Given the description of an element on the screen output the (x, y) to click on. 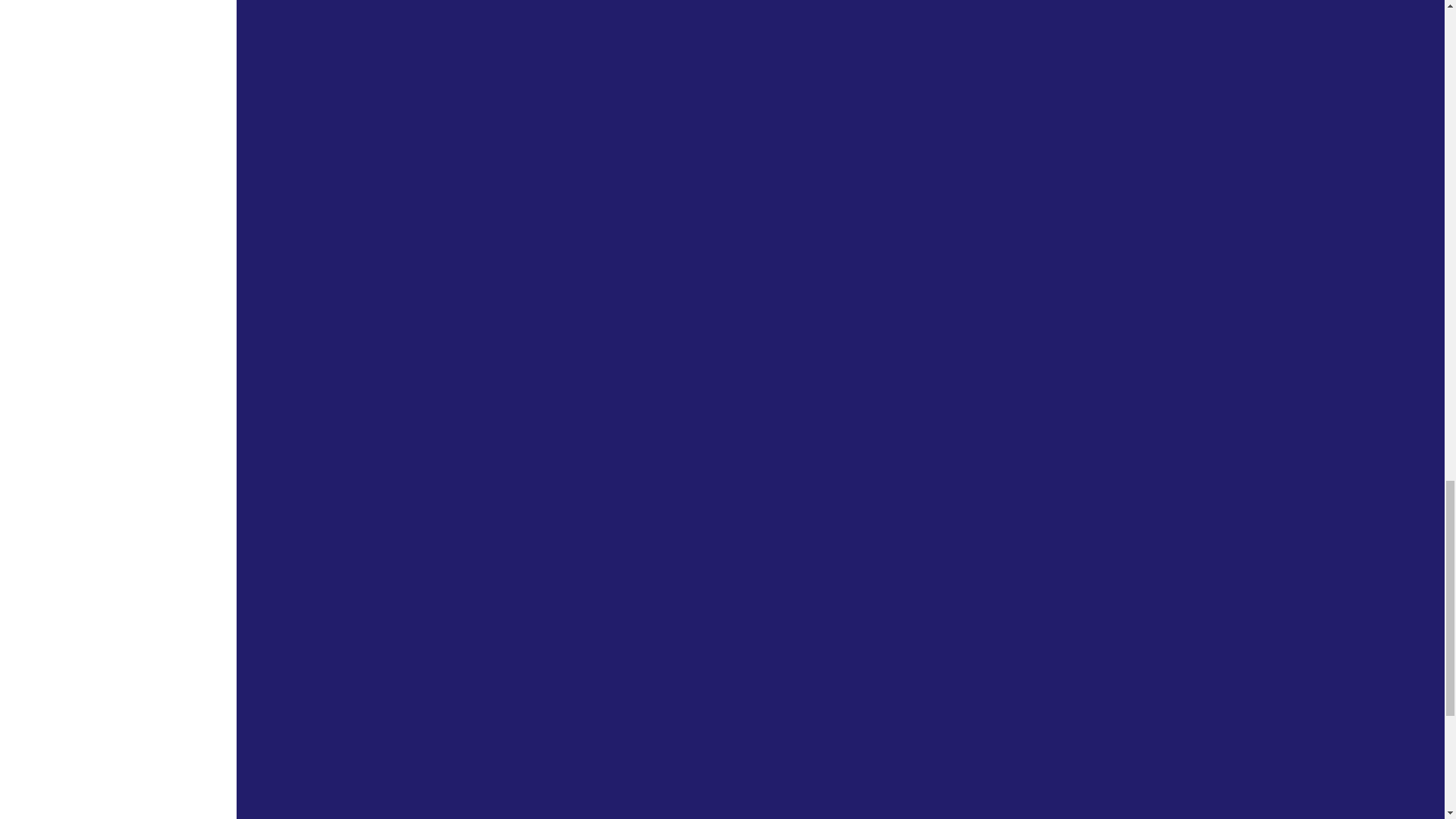
December 7, 2007 (667, 625)
January 25, 2008 (664, 392)
Lansing Update (589, 359)
Lansing Update (589, 593)
February 8, 2008 (664, 158)
Lansing Update (589, 126)
